Given the description of an element on the screen output the (x, y) to click on. 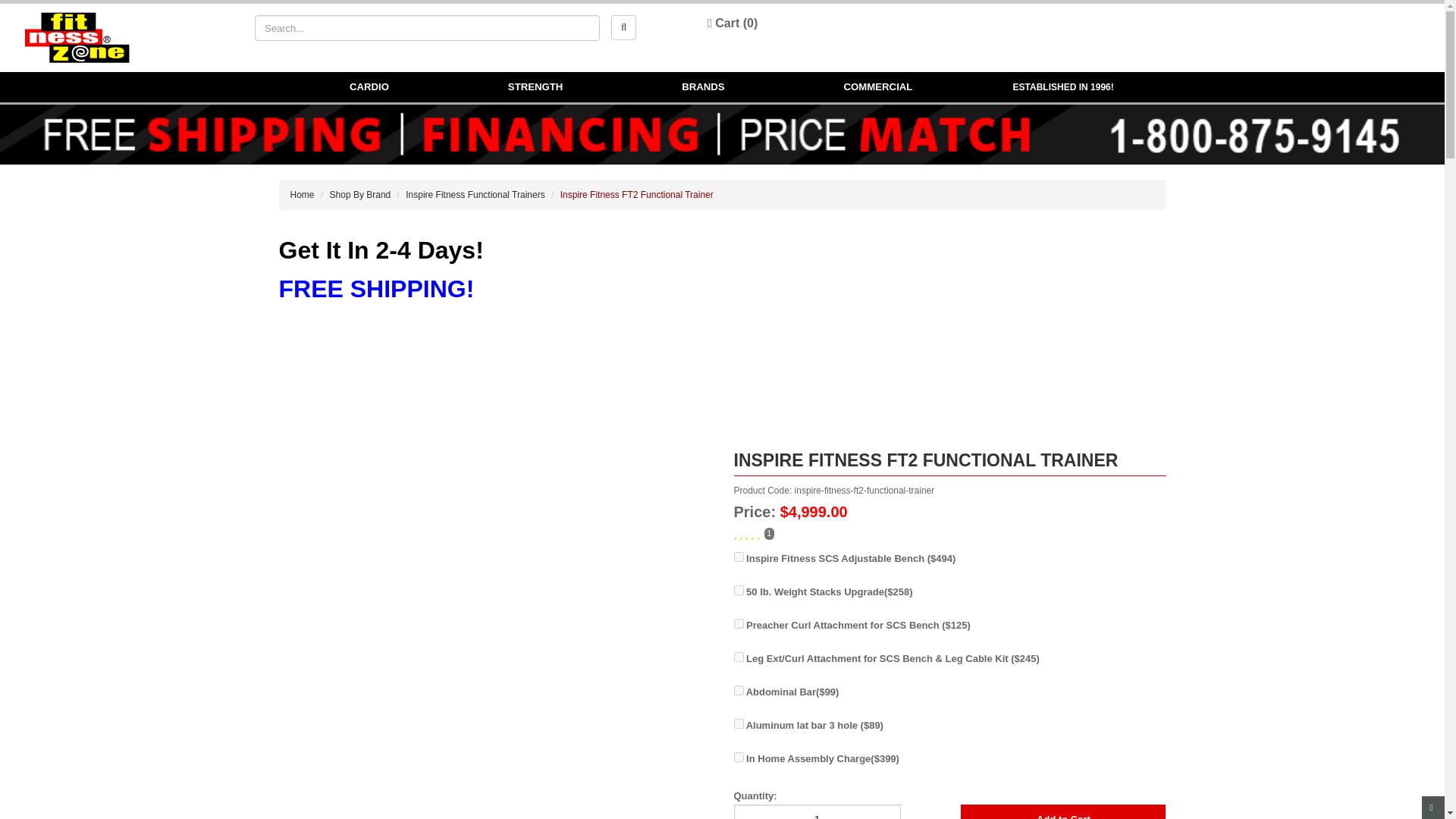
on (738, 590)
on (738, 656)
Welcome To FitnessZone! (77, 37)
on (738, 757)
on (738, 623)
CARDIO (368, 87)
1 (817, 811)
on (738, 690)
Quantity (755, 793)
on (738, 723)
